Given the description of an element on the screen output the (x, y) to click on. 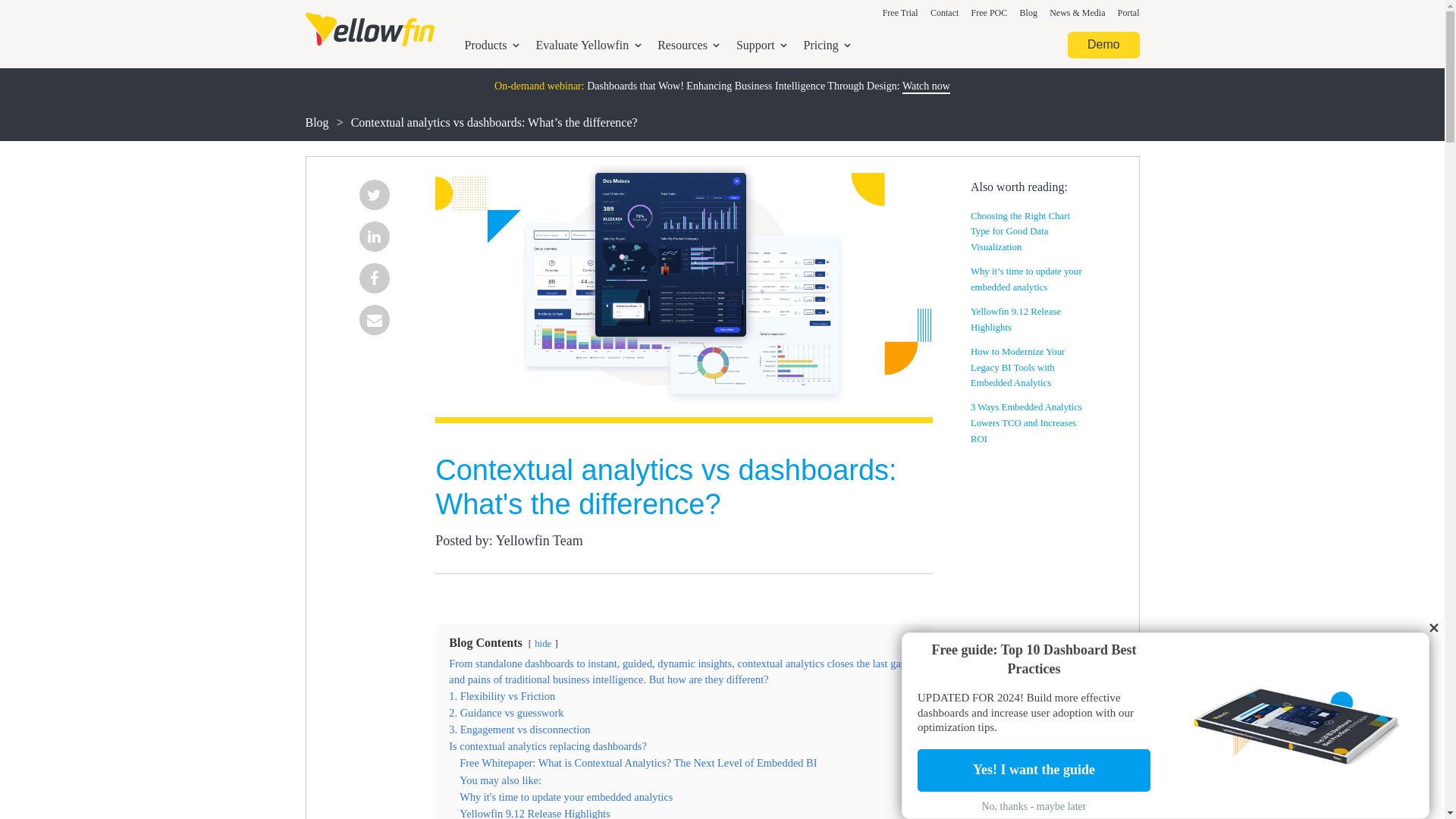
Yes! I want the guide (1033, 770)
No, thanks - maybe later (1033, 806)
Resources (689, 45)
Products (491, 45)
Evaluate Yellowfin (588, 45)
Close (1433, 627)
